Given the description of an element on the screen output the (x, y) to click on. 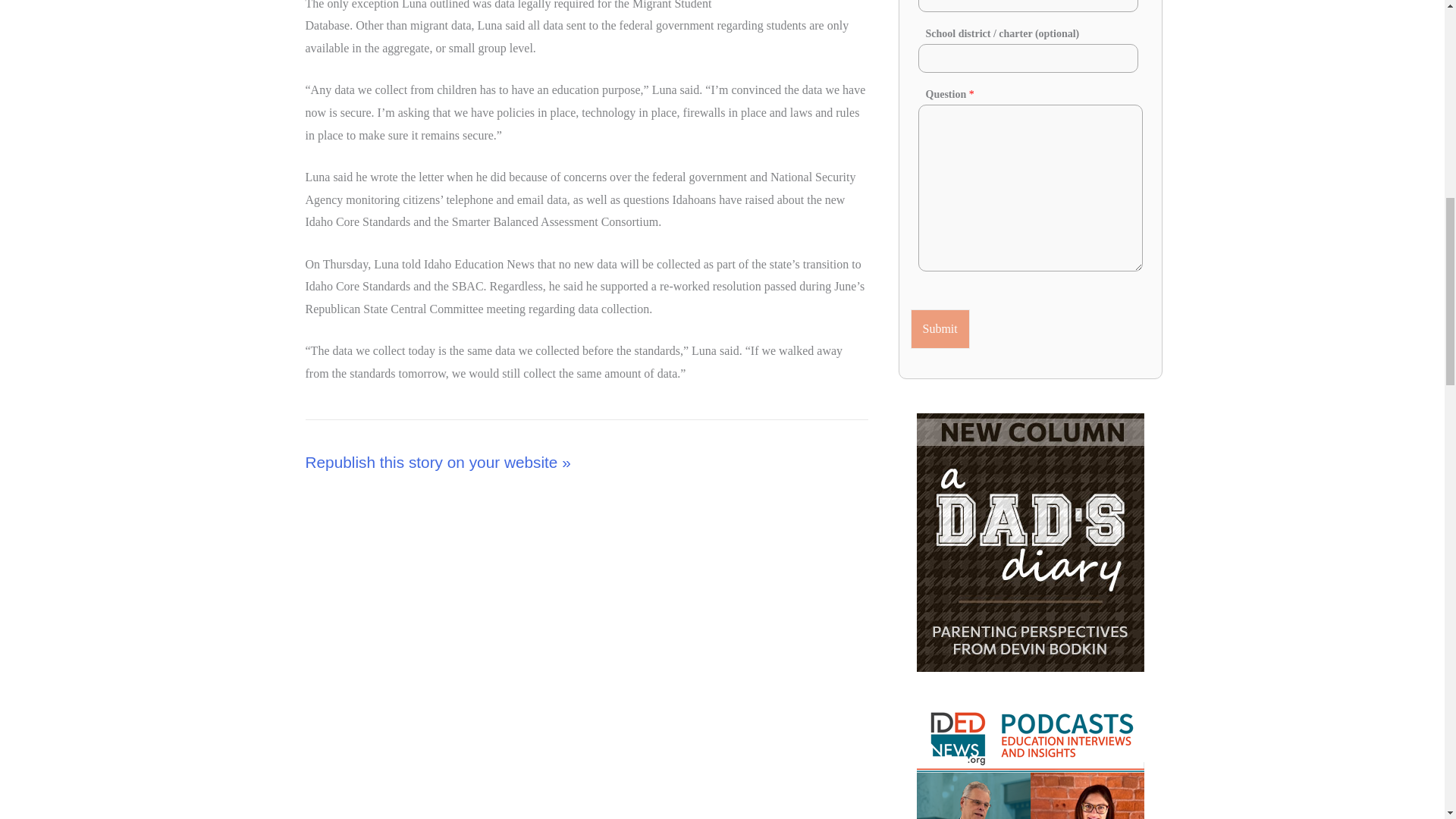
Submit (939, 328)
